Given the description of an element on the screen output the (x, y) to click on. 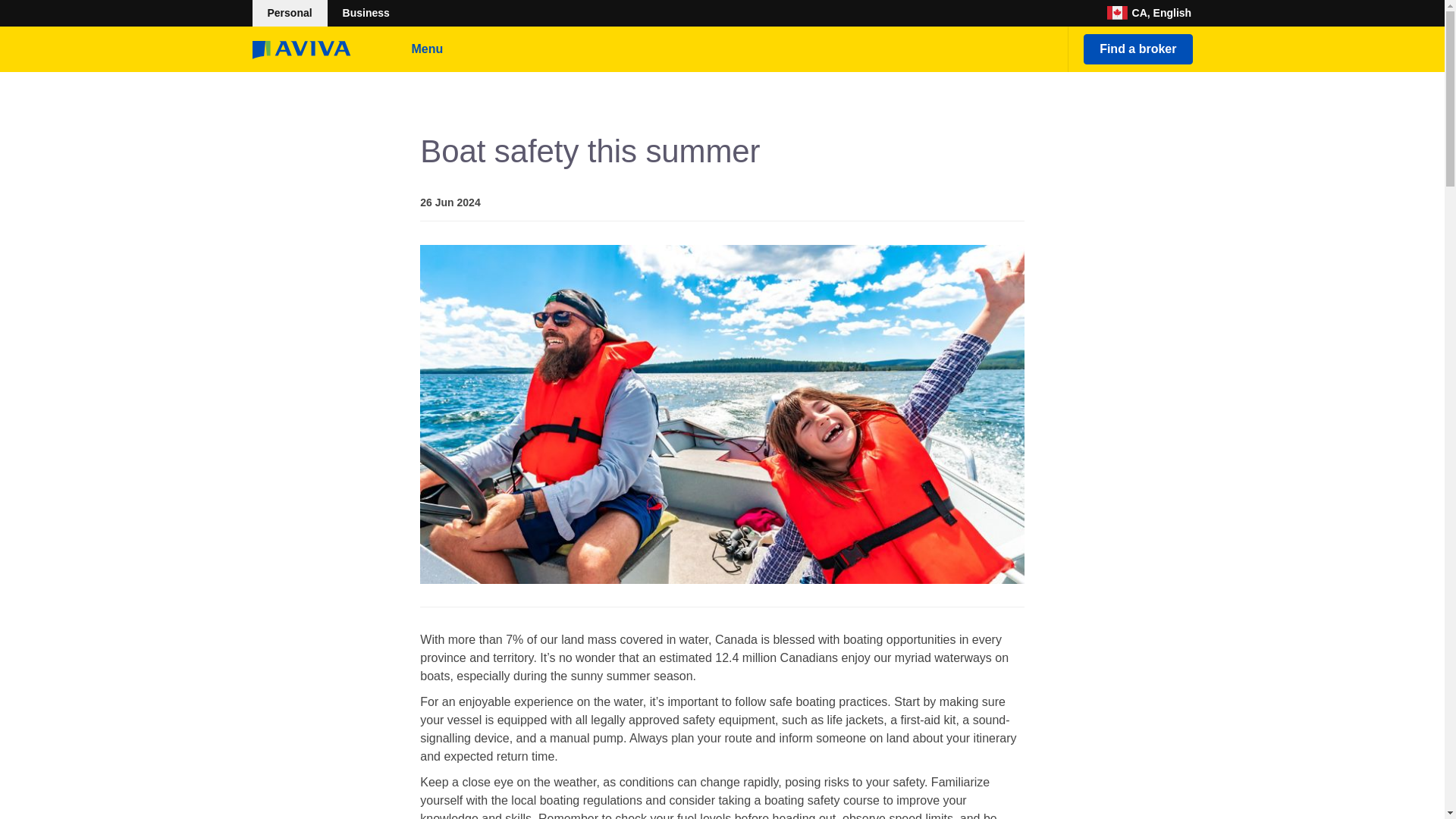
CA, English (1149, 13)
Business (365, 13)
Personal (288, 13)
Find a broker (1137, 49)
